Given the description of an element on the screen output the (x, y) to click on. 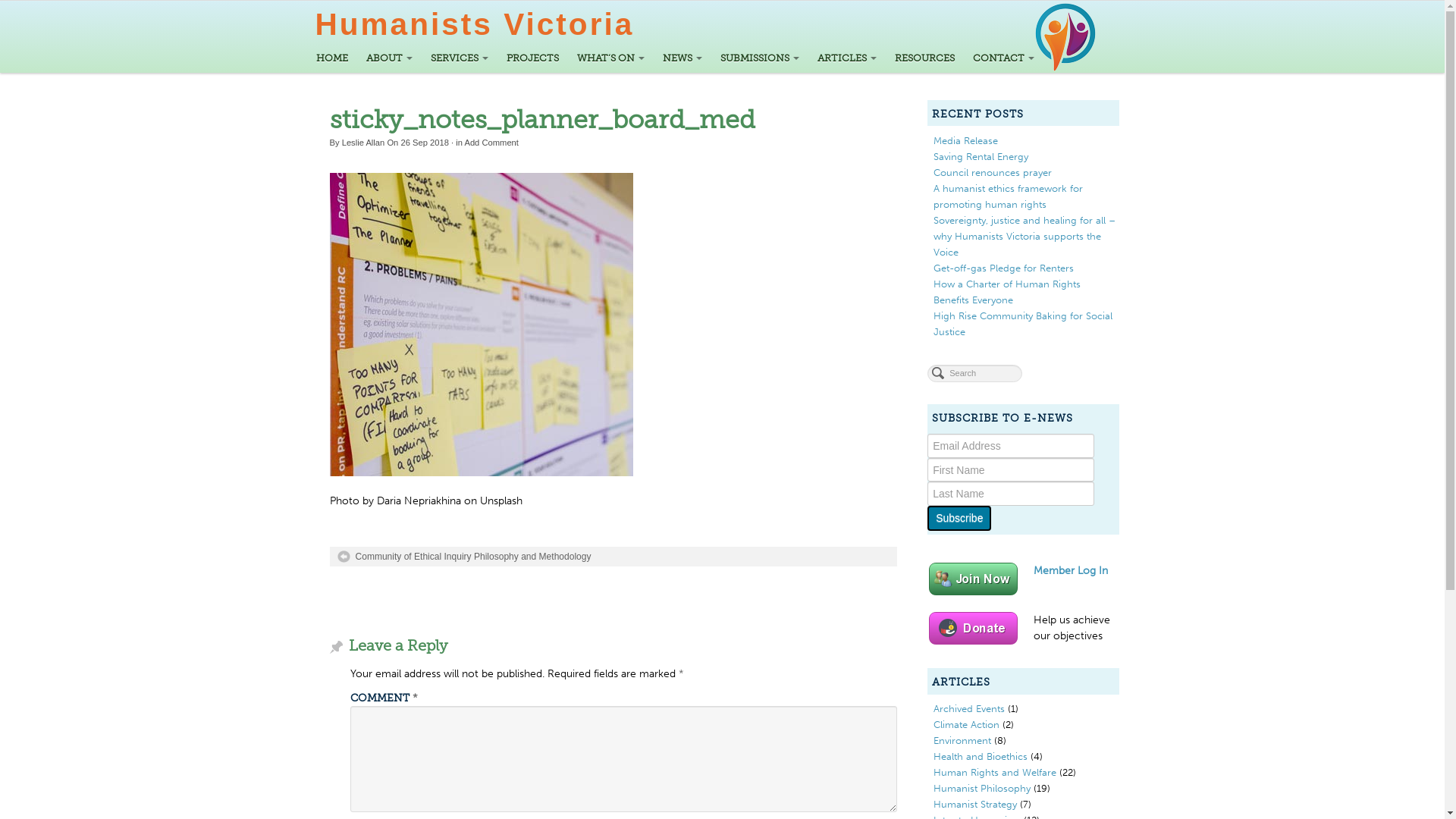
Council renounces prayer Element type: text (992, 172)
Community of Ethical Inquiry Philosophy and Methodology Element type: text (463, 556)
How a Charter of Human Rights Benefits Everyone Element type: text (1006, 291)
Saving Rental Energy Element type: text (980, 156)
HOME Element type: text (331, 57)
Add Comment Element type: text (491, 142)
Humanist Philosophy Element type: text (981, 787)
Subscribe Element type: text (959, 517)
Environment Element type: text (962, 740)
CONTACT Element type: text (1002, 57)
ABOUT Element type: text (388, 57)
SERVICES Element type: text (459, 57)
Human Rights and Welfare Element type: text (994, 771)
A humanist ethics framework for promoting human rights Element type: text (1007, 196)
High Rise Community Baking for Social Justice Element type: text (1022, 323)
Humanist Strategy Element type: text (974, 803)
ARTICLES Element type: text (846, 57)
Media Release Element type: text (965, 140)
Humanists Victoria Element type: text (474, 23)
SUBMISSIONS Element type: text (759, 57)
RESOURCES Element type: text (924, 57)
Archived Events Element type: text (968, 708)
Member Log In Element type: text (1070, 570)
Climate Action Element type: text (966, 724)
Get-off-gas Pledge for Renters Element type: text (1003, 267)
Leslie Allan Element type: text (363, 142)
Health and Bioethics Element type: text (980, 755)
PROJECTS Element type: text (532, 57)
NEWS Element type: text (682, 57)
